Given the description of an element on the screen output the (x, y) to click on. 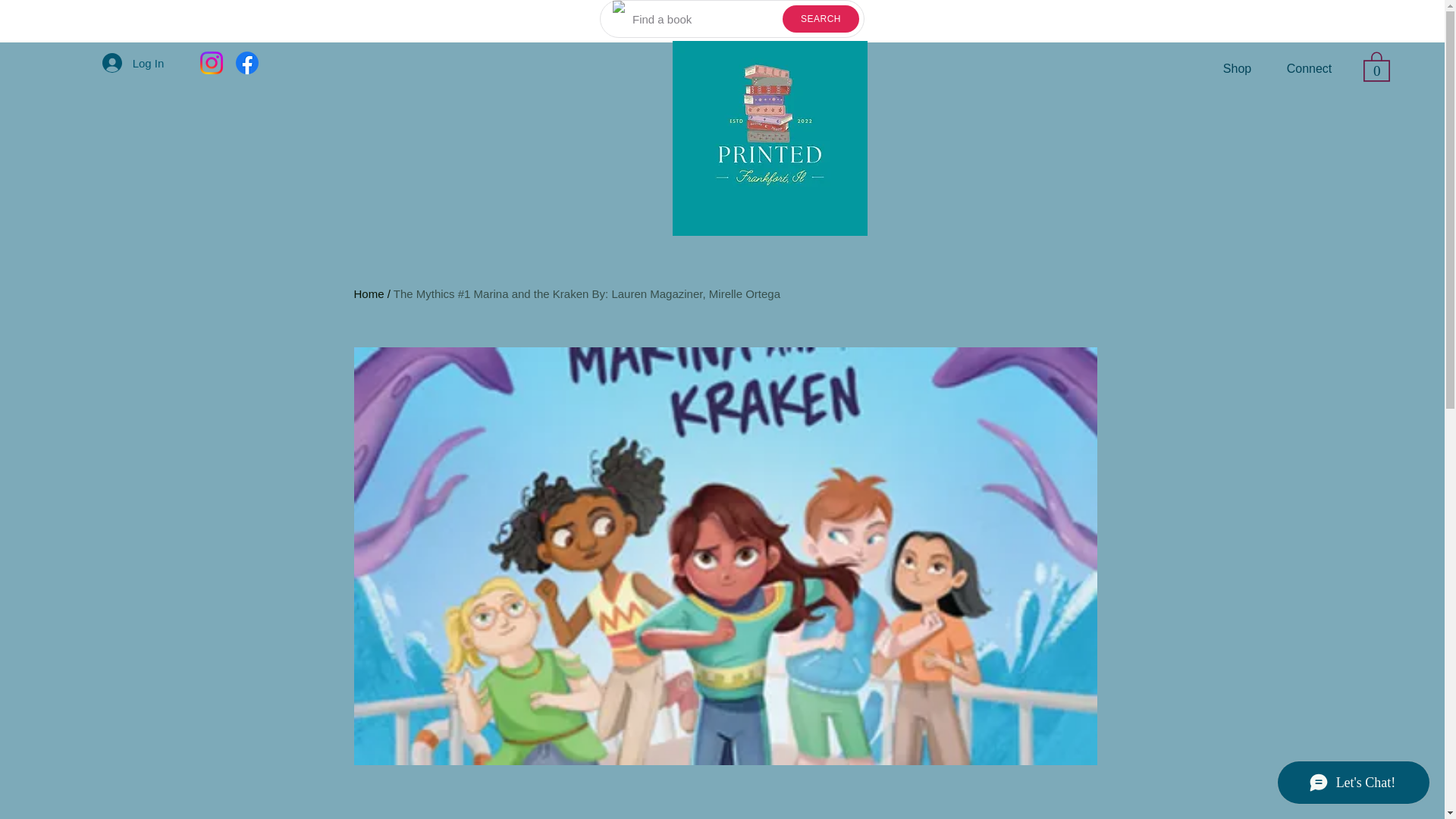
shop printed on bookshop.org (910, 68)
Home (368, 293)
Log In (132, 62)
